Given the description of an element on the screen output the (x, y) to click on. 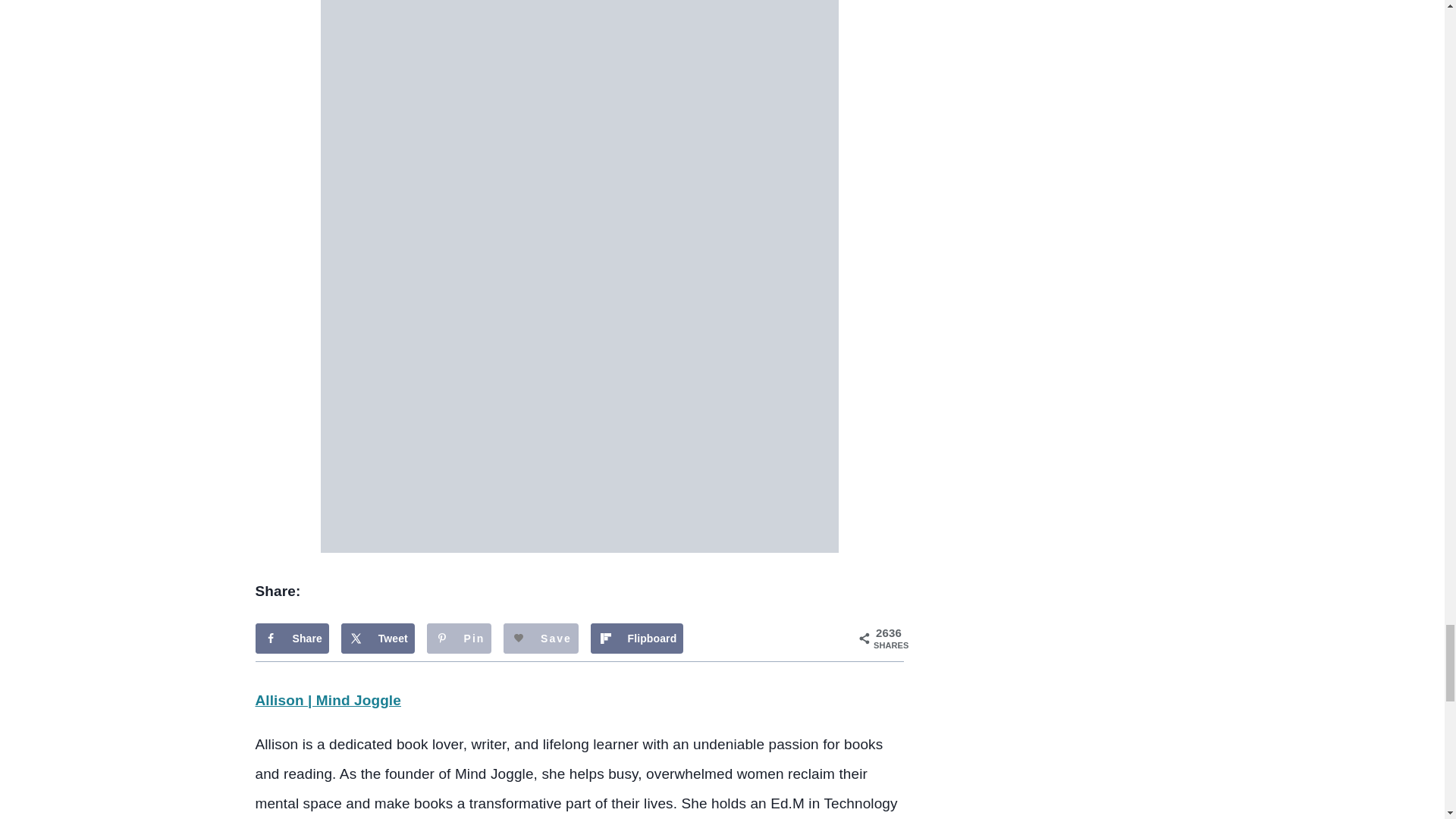
Share on X (377, 638)
Share on Facebook (291, 638)
Save to Pinterest (459, 638)
Save on Grow.me (540, 638)
Share on Flipboard (635, 638)
